Given the description of an element on the screen output the (x, y) to click on. 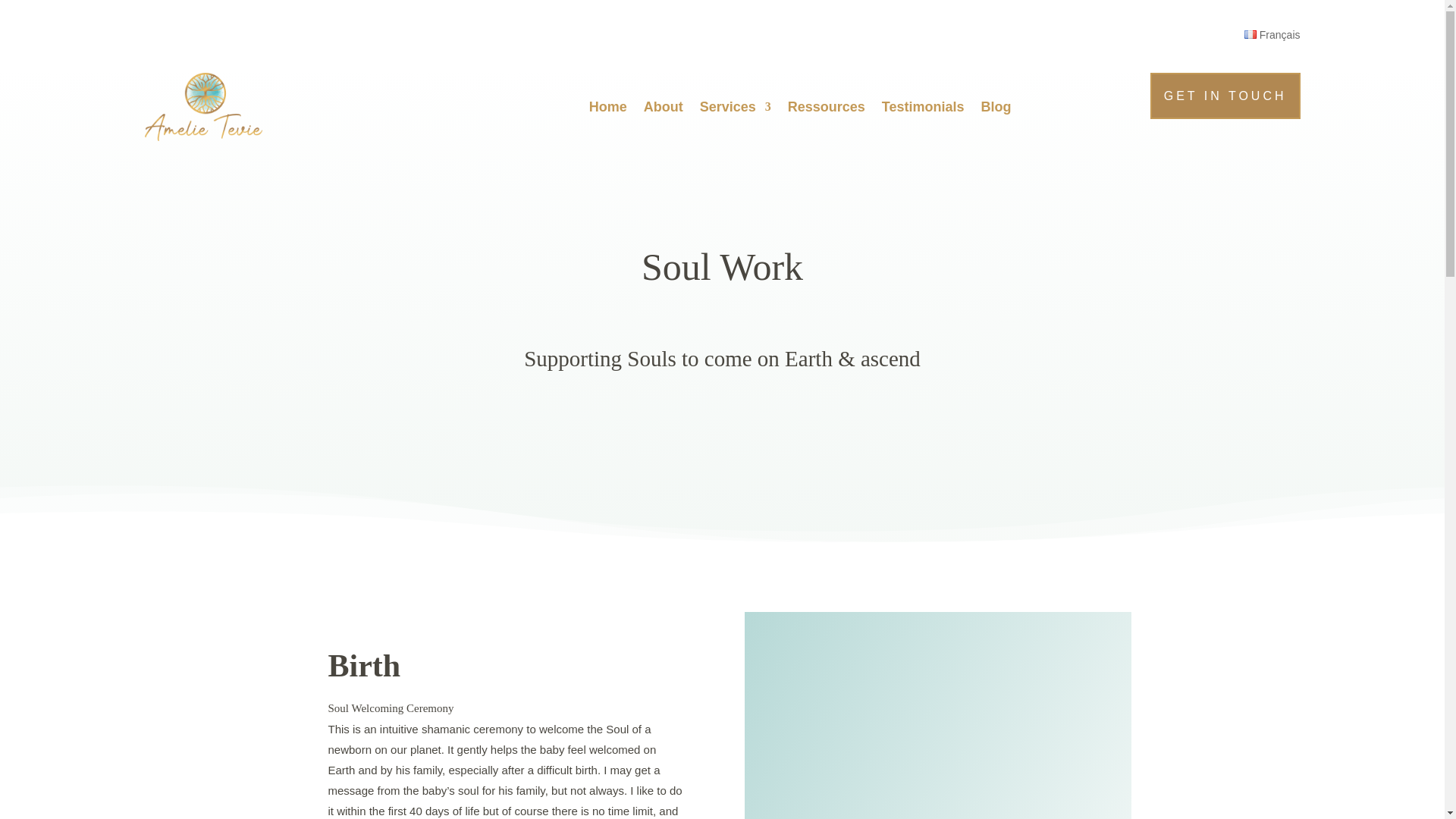
Services (735, 106)
Testimonials (922, 106)
Ressources (825, 106)
GET IN TOUCH (1225, 95)
